Given the description of an element on the screen output the (x, y) to click on. 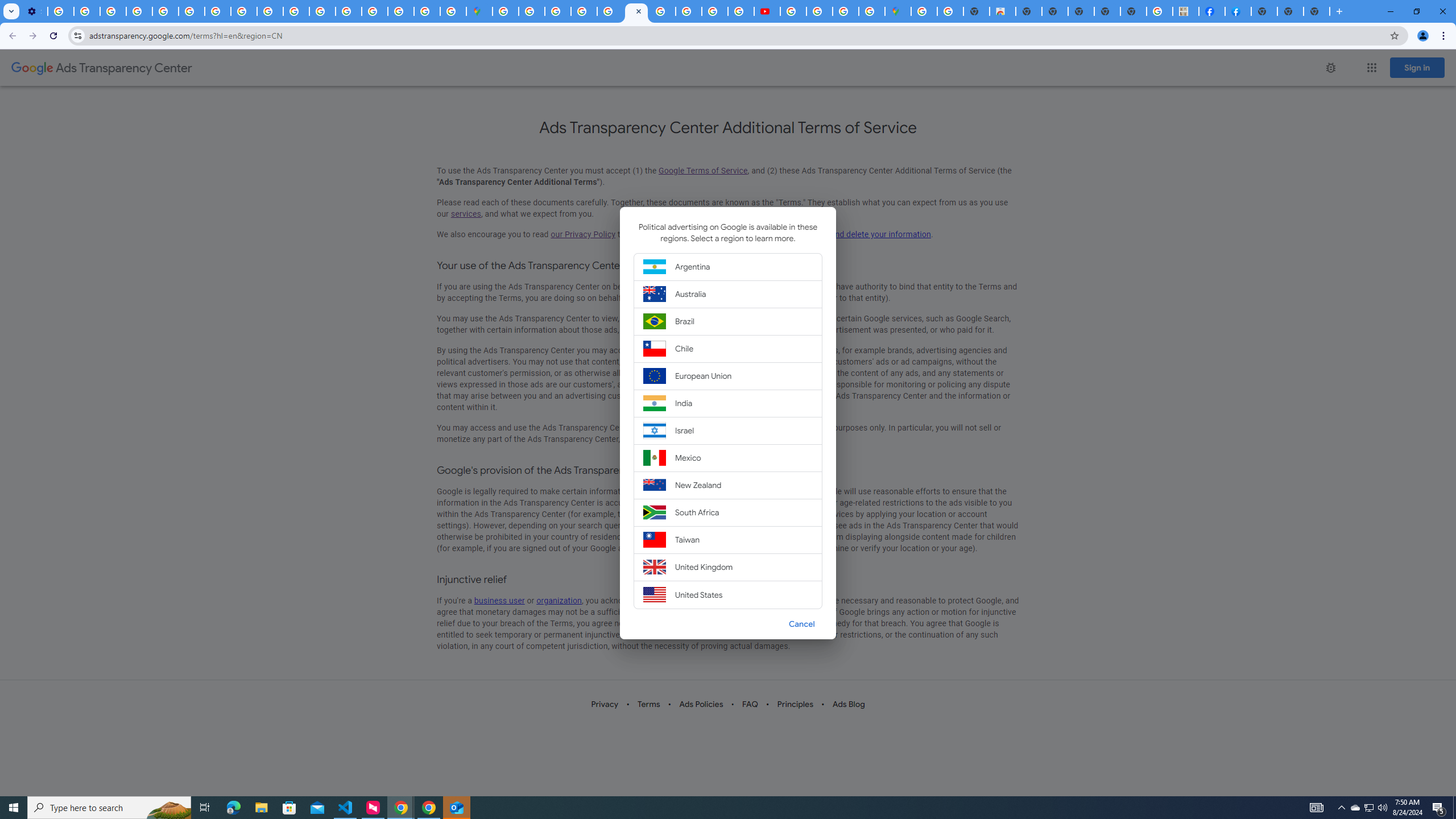
United States (727, 594)
Google Maps (479, 11)
YouTube (191, 11)
Ads Policies (700, 703)
Ads Blog (847, 703)
To get missing image descriptions, open the context menu. (1330, 67)
Delete photos & videos - Computer - Google Photos Help (60, 11)
South Africa (727, 512)
Chrome Web Store (1002, 11)
